Given the description of an element on the screen output the (x, y) to click on. 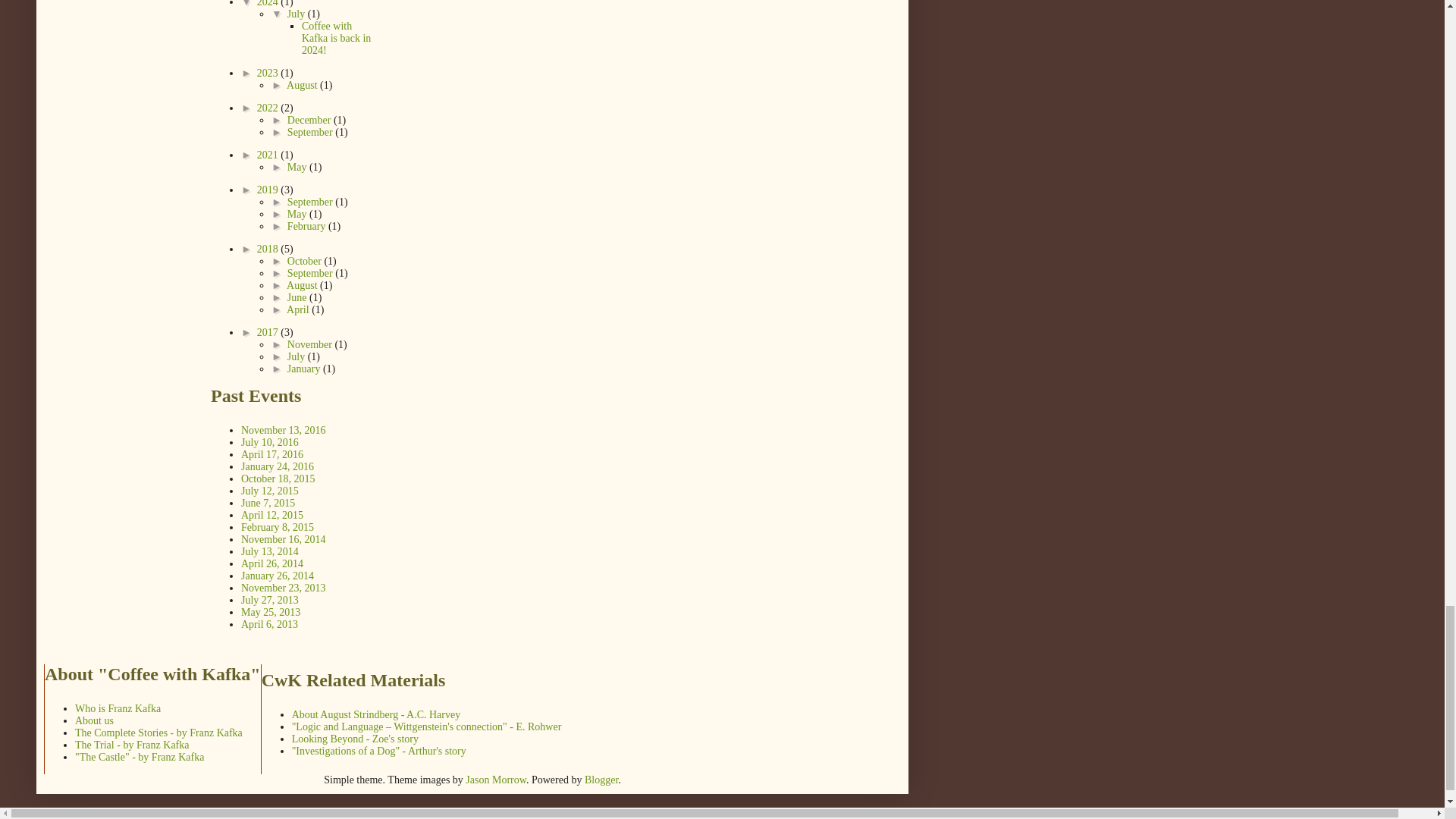
Coffee with Kafka is back in 2024! (336, 38)
December (309, 120)
July (296, 13)
2023 (269, 72)
2022 (269, 107)
2024 (269, 3)
September (310, 132)
August (303, 84)
2021 (269, 154)
